Given the description of an element on the screen output the (x, y) to click on. 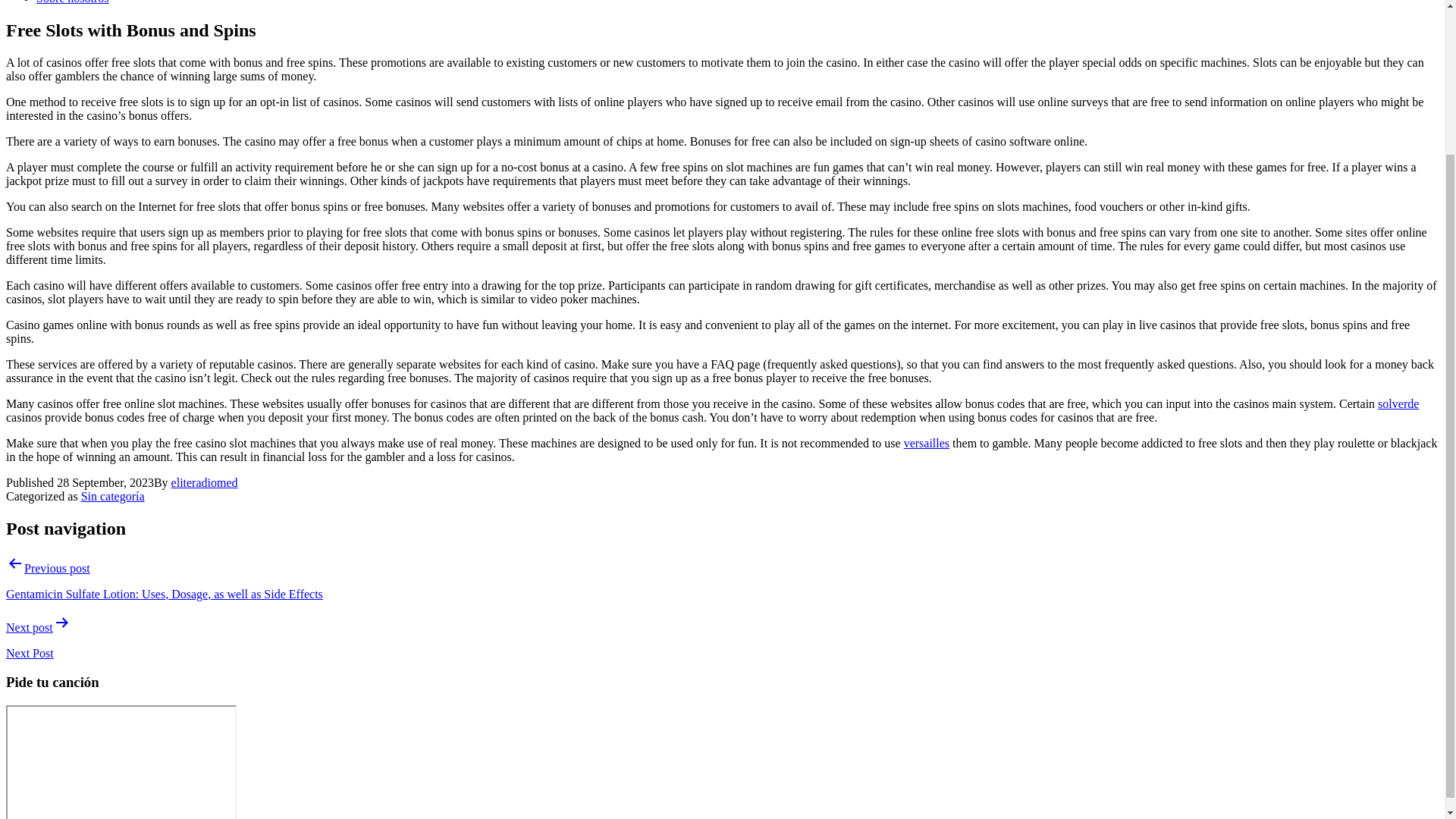
eliteradiomed (204, 481)
versailles (926, 442)
solverde (1397, 403)
Sobre nosotros (72, 2)
